Given the description of an element on the screen output the (x, y) to click on. 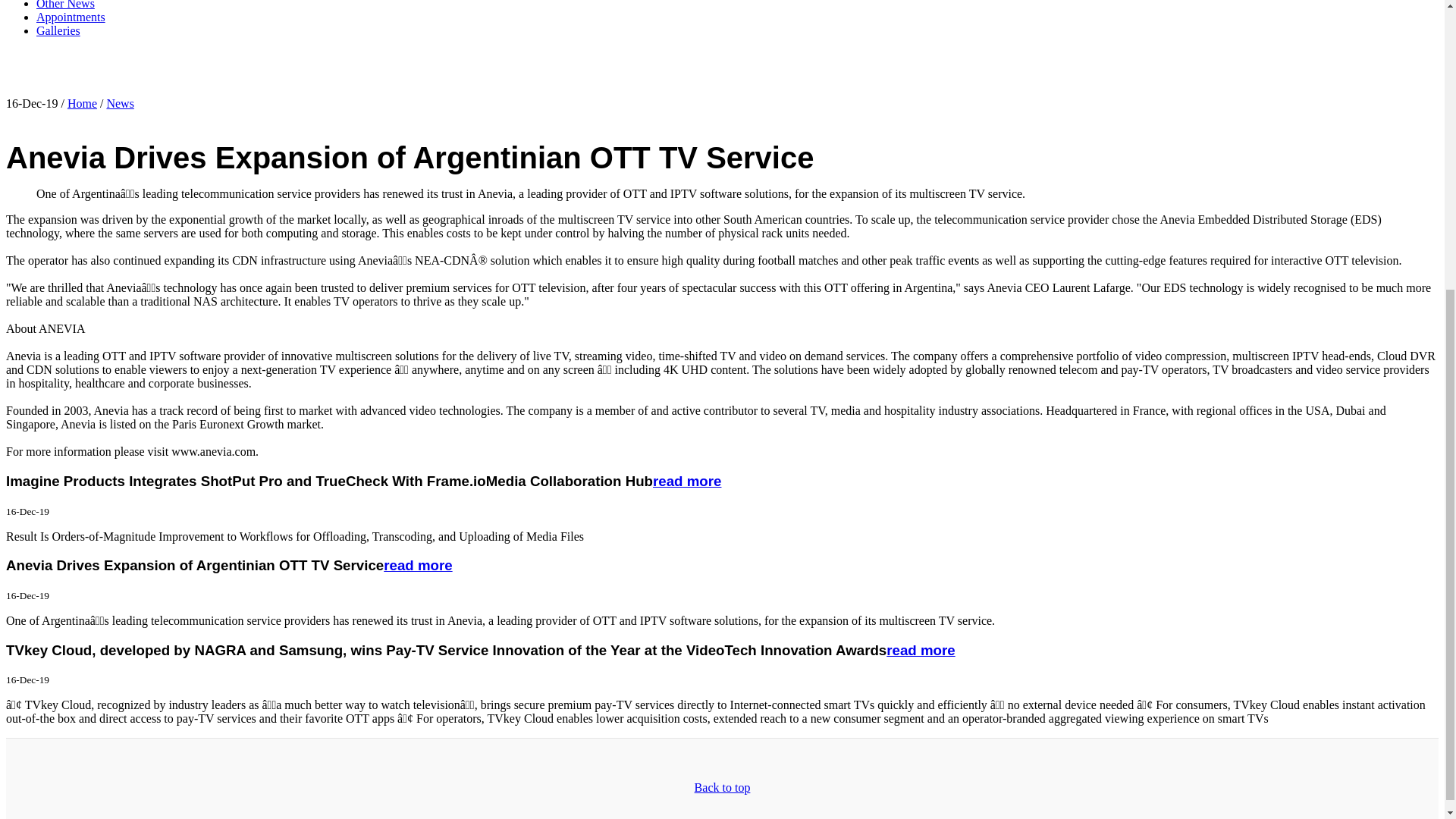
Galleries (58, 30)
read more (686, 480)
Home (81, 103)
read more (417, 565)
Appointments (70, 16)
read more (920, 650)
Other News (65, 4)
Back to top (722, 787)
News (119, 103)
